Given the description of an element on the screen output the (x, y) to click on. 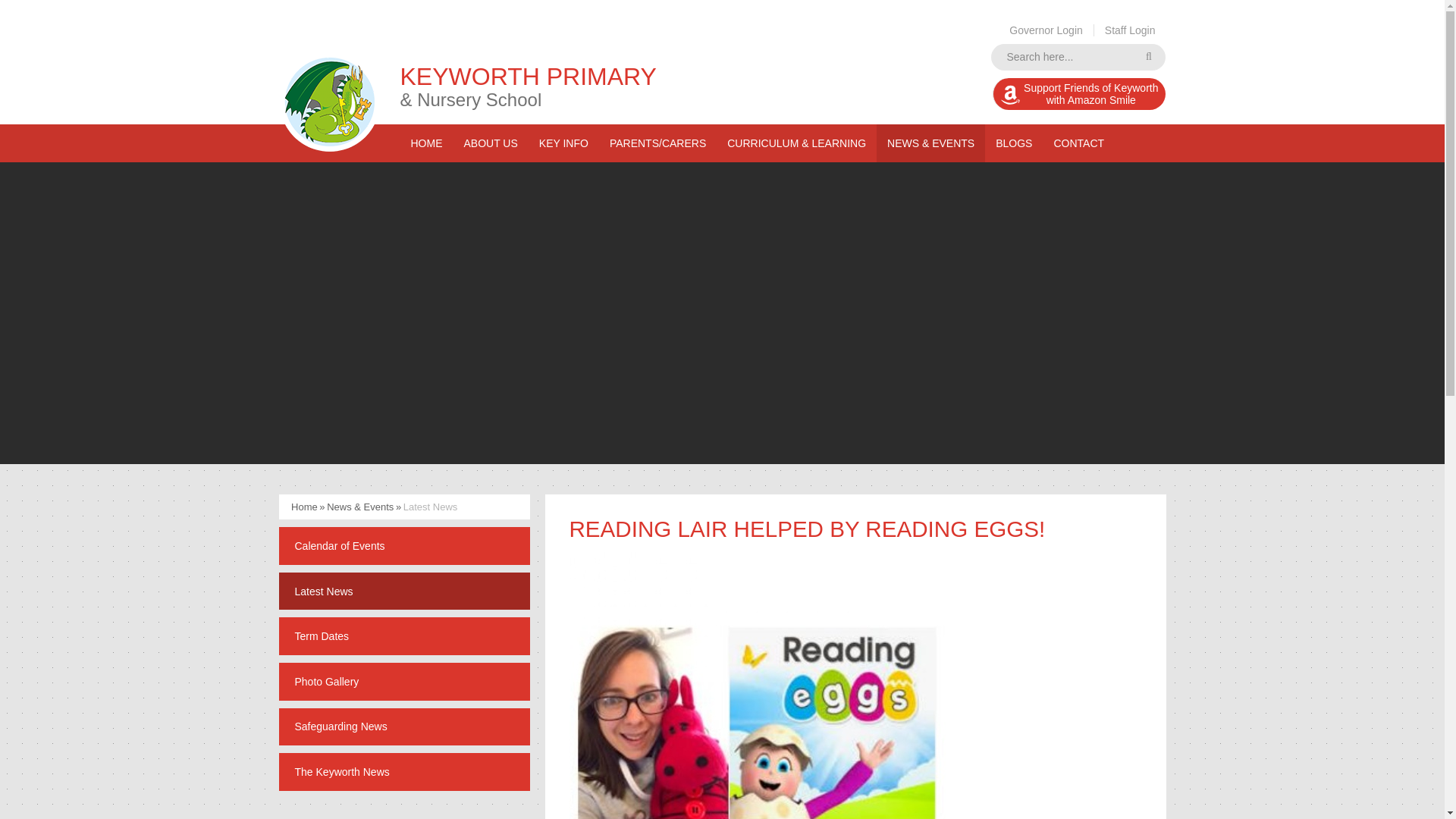
Governor Login (1079, 93)
Search here... (1046, 30)
HOME (1078, 57)
ABOUT US (426, 143)
KEY INFO (490, 143)
search... (563, 143)
Staff Login (1078, 57)
